Given the description of an element on the screen output the (x, y) to click on. 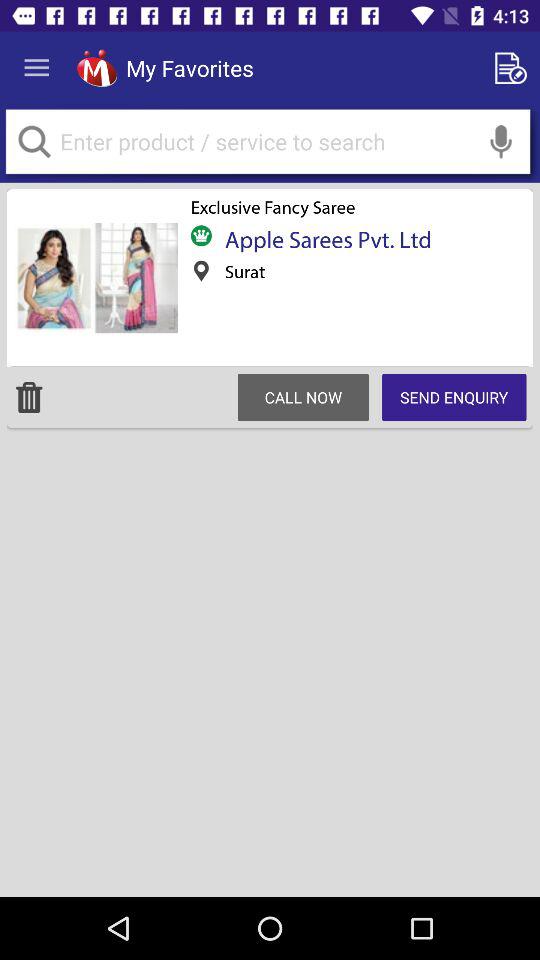
move to trash (29, 397)
